Given the description of an element on the screen output the (x, y) to click on. 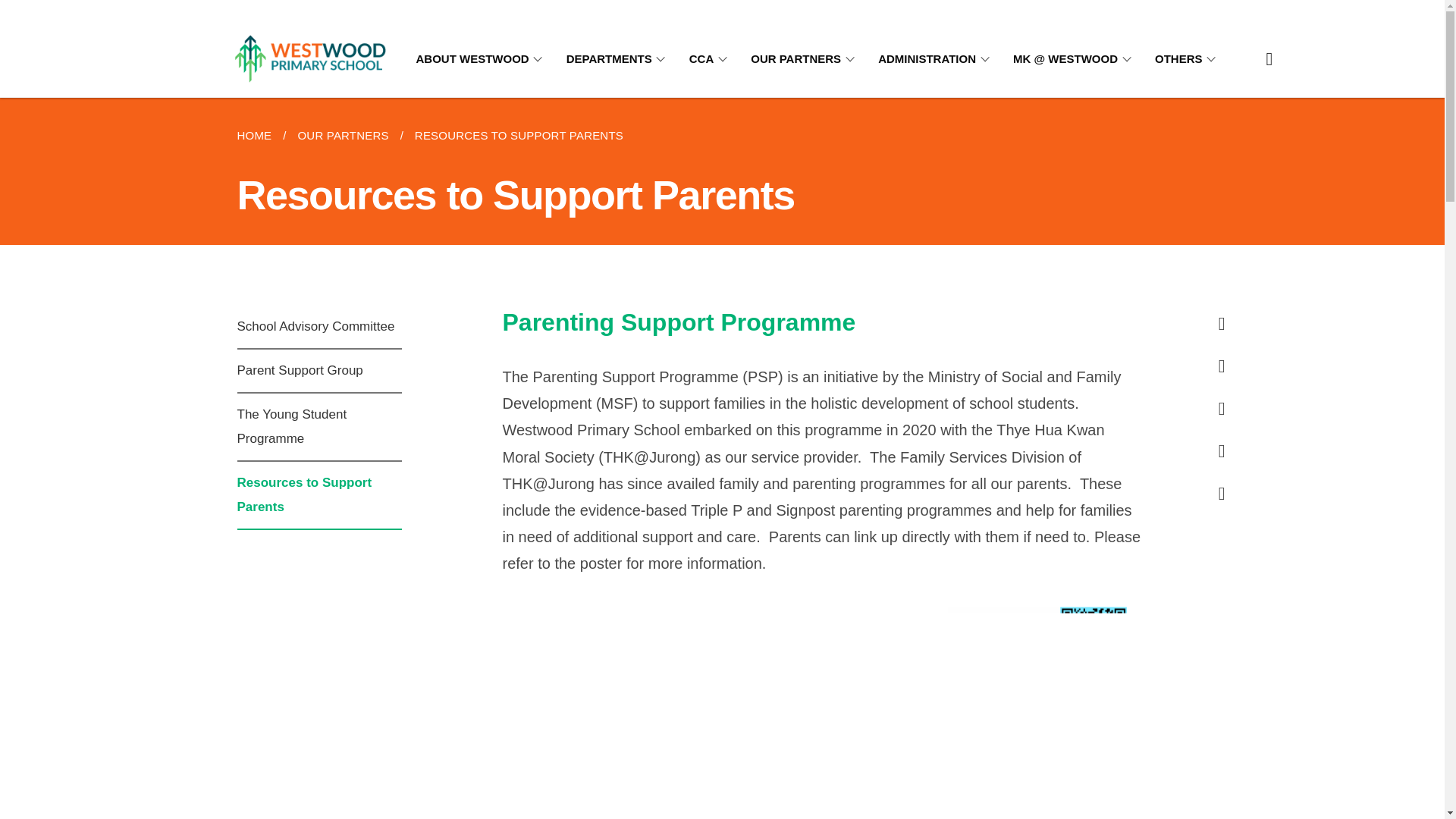
OUR PARTNERS (805, 59)
ABOUT WESTWOOD (480, 59)
DEPARTMENTS (618, 59)
ADMINISTRATION (935, 59)
